Given the description of an element on the screen output the (x, y) to click on. 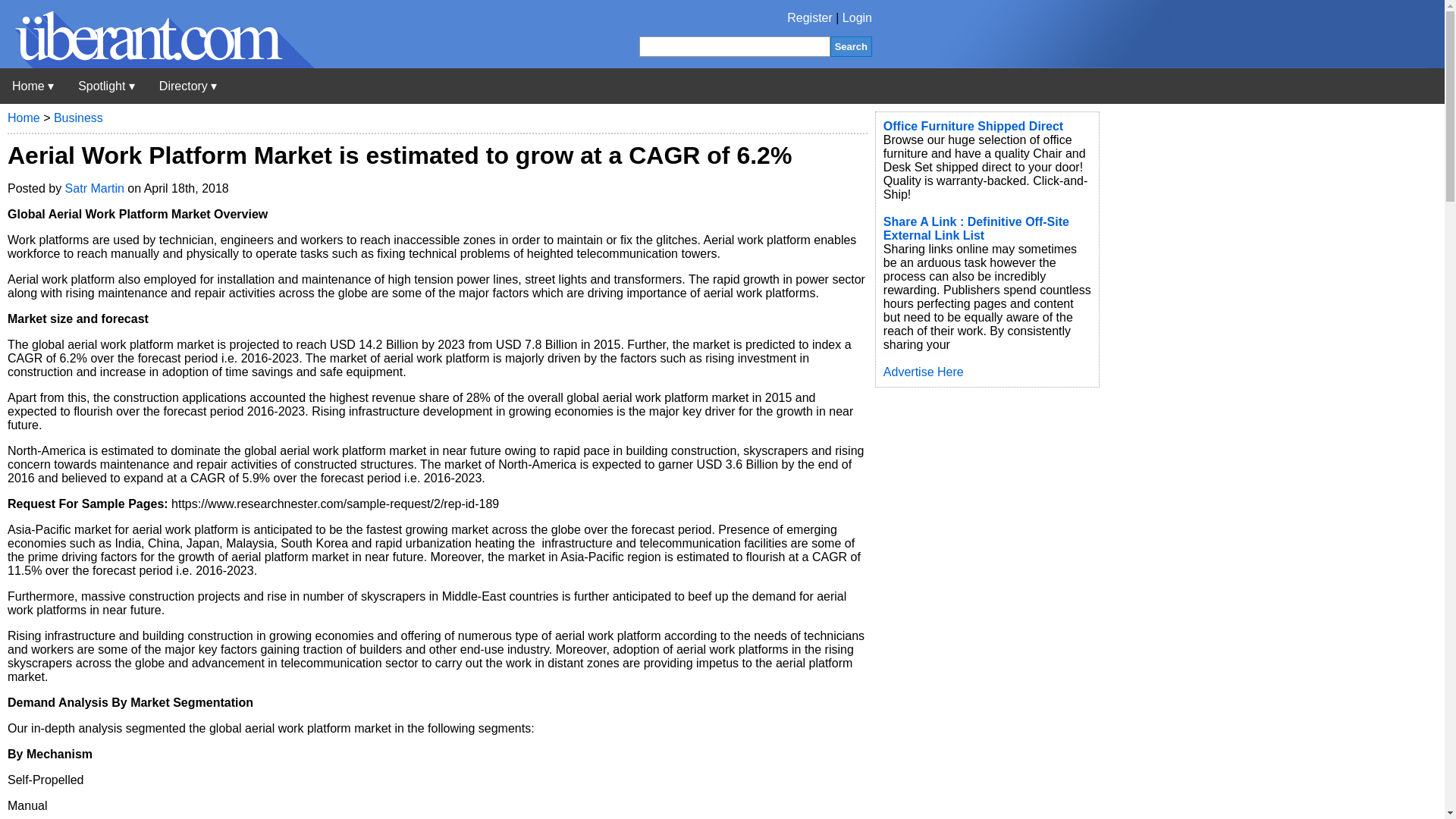
Uberant (157, 63)
Uberant (32, 85)
Search (850, 46)
Login (857, 17)
Search (850, 46)
Register (809, 17)
